Given the description of an element on the screen output the (x, y) to click on. 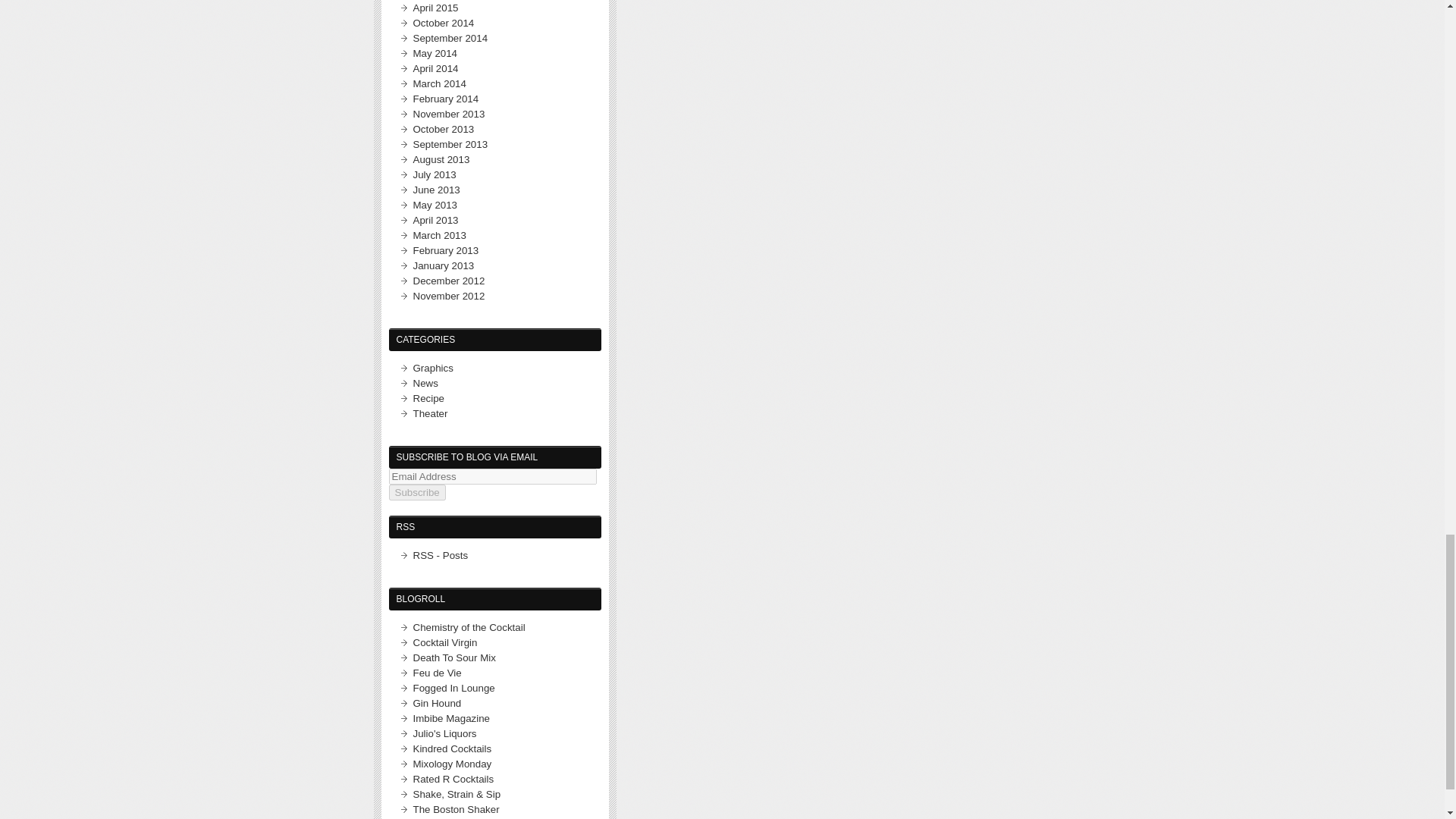
Subscribe to Posts (439, 555)
